Given the description of an element on the screen output the (x, y) to click on. 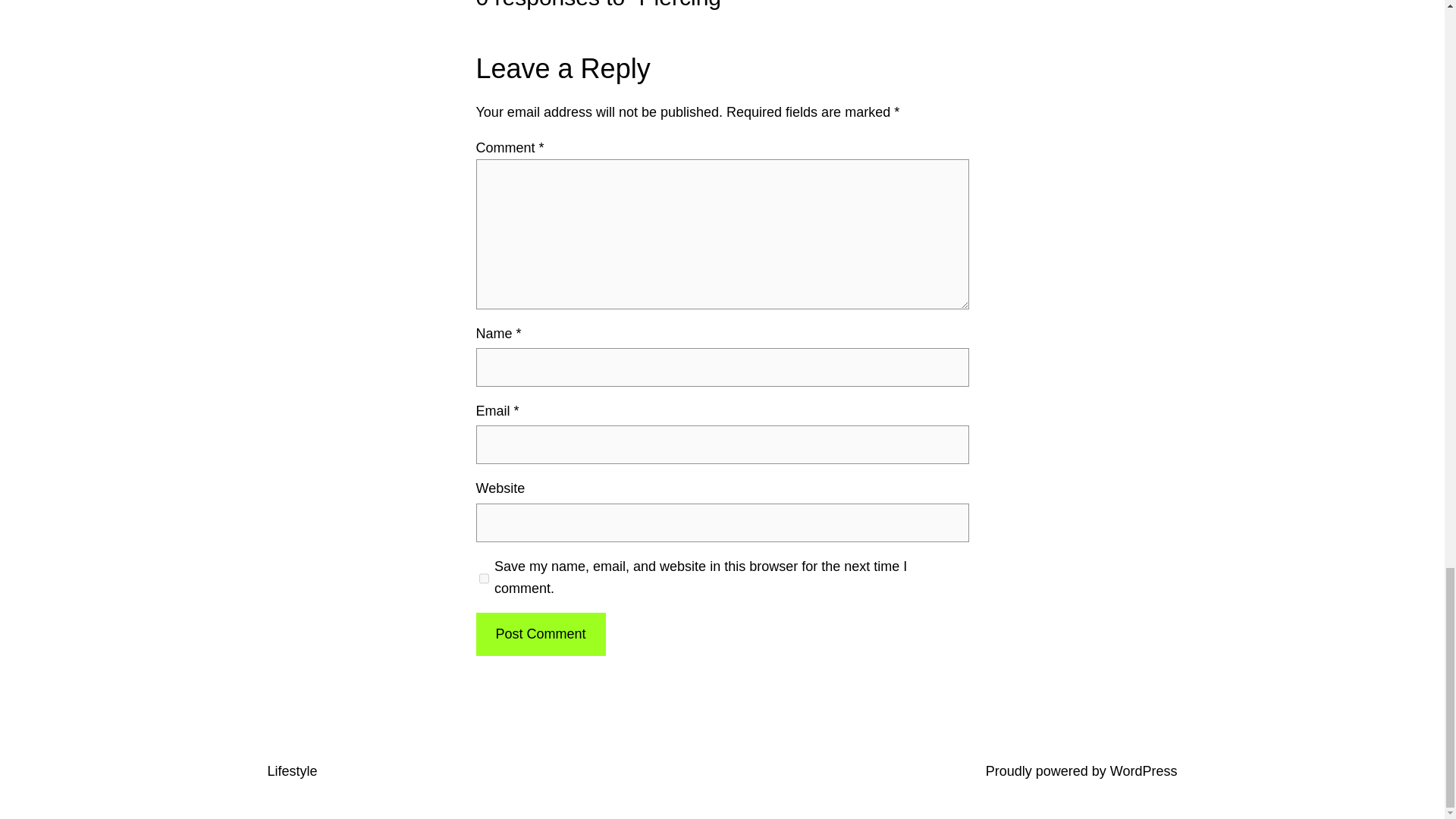
Lifestyle (291, 770)
Post Comment (540, 634)
Post Comment (540, 634)
WordPress (1143, 770)
